Given the description of an element on the screen output the (x, y) to click on. 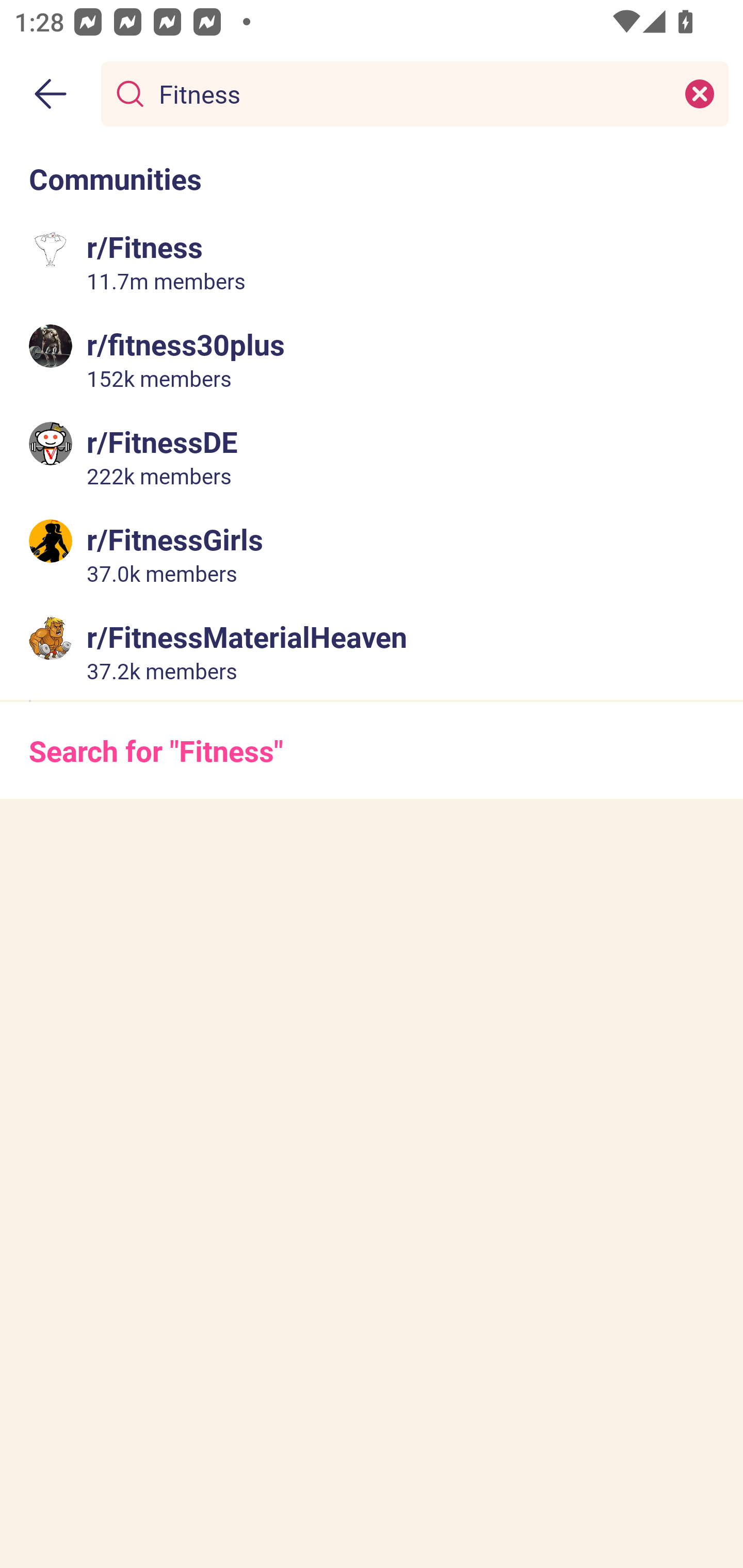
Back (50, 93)
Fitness (410, 93)
Clear search (699, 93)
r/Fitness 11.7m members 11.7 million members (371, 261)
r/fitness30plus 152k members 152 thousand members (371, 358)
r/FitnessDE 222k members 222 thousand members (371, 455)
r/FitnessGirls 37.0k members 37.0 thousand members (371, 553)
Search for "Fitness" (371, 750)
